Given the description of an element on the screen output the (x, y) to click on. 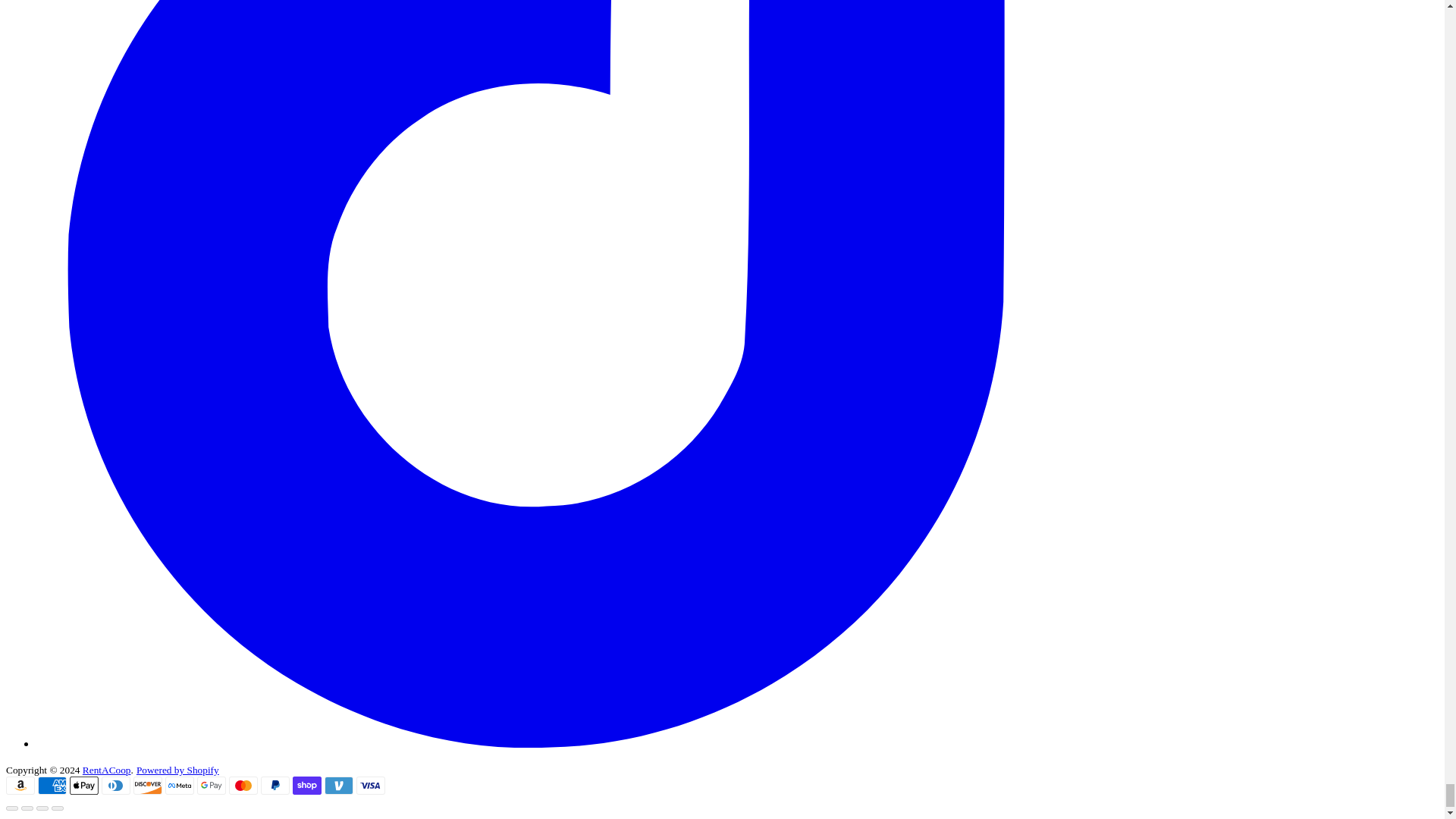
Mastercard (242, 785)
Google Pay (210, 785)
Close (11, 807)
Meta Pay (179, 785)
Diners Club (116, 785)
Share (27, 807)
Discover (147, 785)
Shop Pay (306, 785)
Apple Pay (84, 785)
PayPal (274, 785)
